Given the description of an element on the screen output the (x, y) to click on. 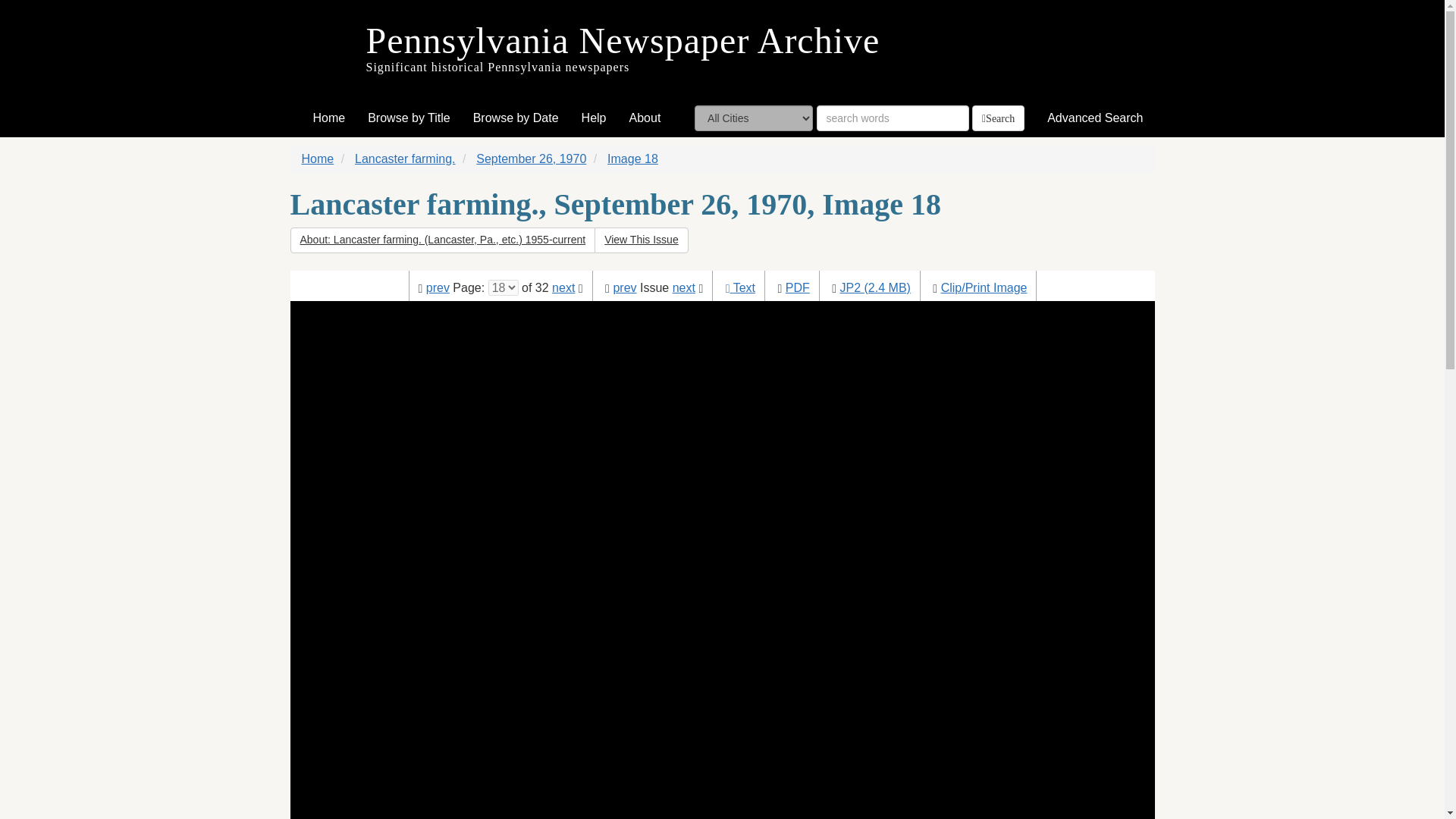
next (563, 287)
prev (437, 287)
Lancaster farming. (405, 158)
Home (317, 158)
Advanced Search (1094, 118)
prev (624, 287)
View This Issue (641, 240)
PDF (797, 287)
Browse by Date (515, 118)
Help (593, 118)
